Given the description of an element on the screen output the (x, y) to click on. 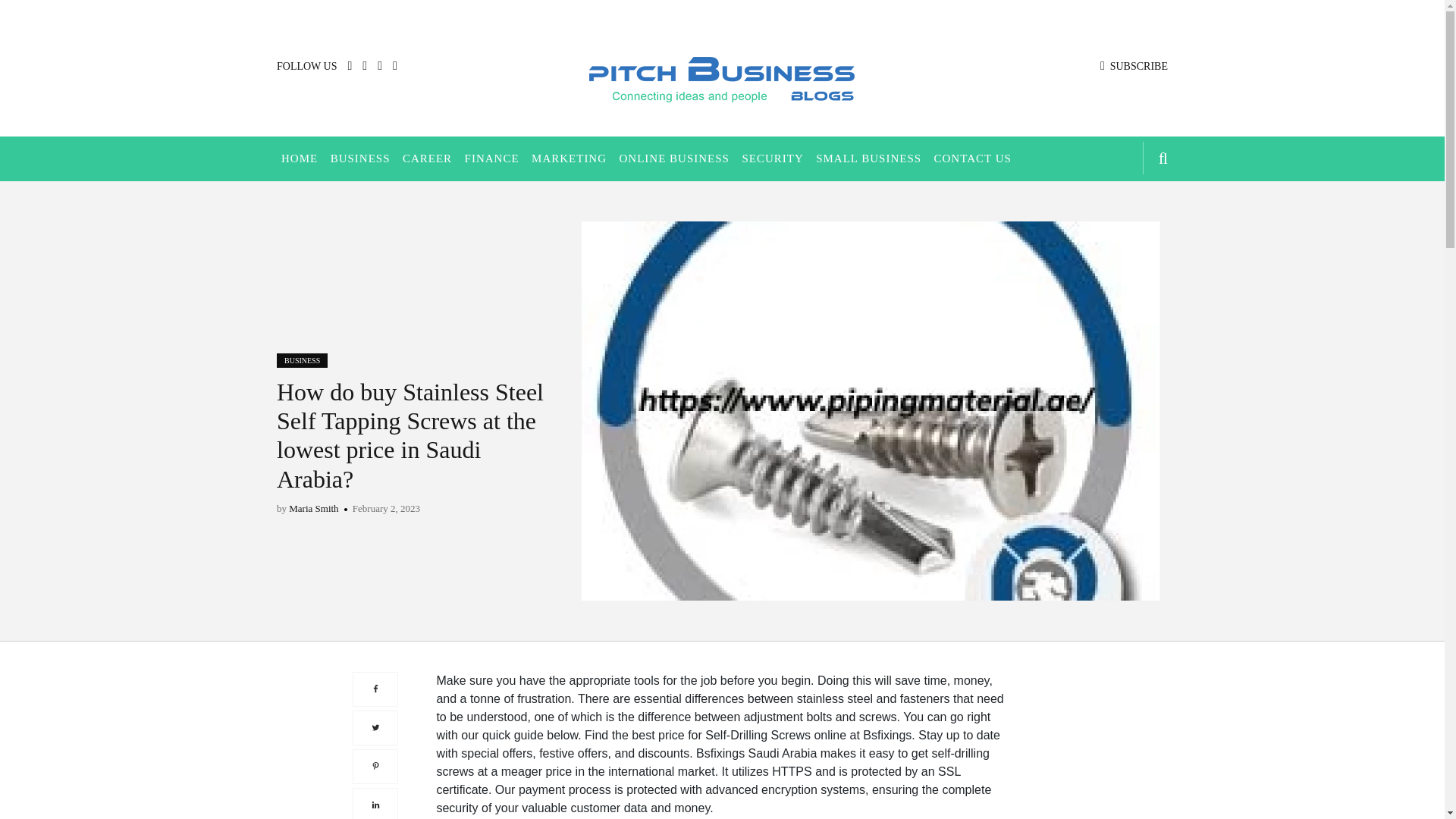
CAREER (427, 158)
MARKETING (569, 158)
BUSINESS (360, 158)
Share on Twitter (374, 643)
Share on LinkedIn (374, 720)
SUBSCRIBE (1133, 66)
ONLINE BUSINESS (673, 158)
Share on Pinterest (374, 682)
HOME (298, 158)
BUSINESS (301, 359)
